Given the description of an element on the screen output the (x, y) to click on. 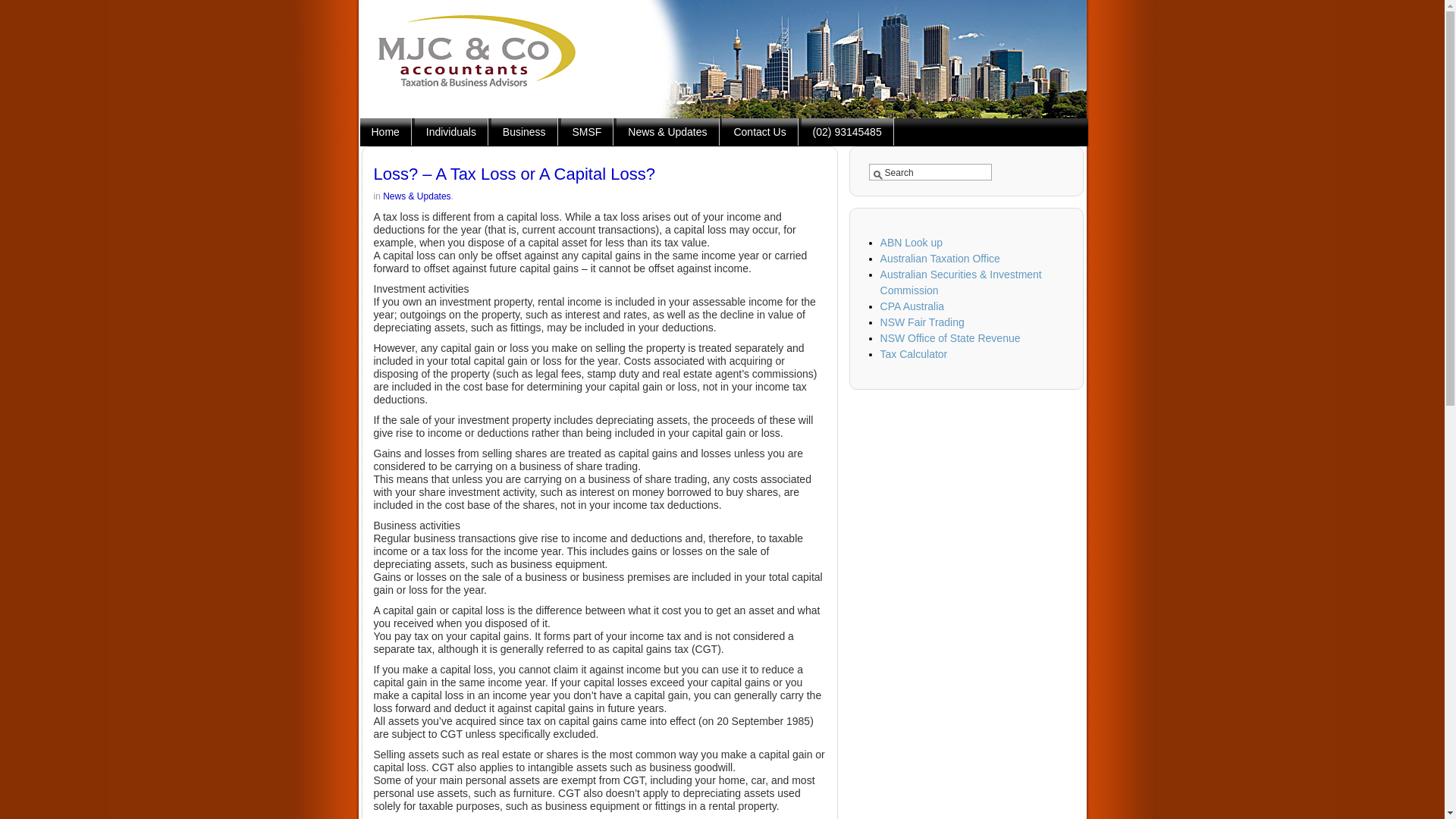
Contact Us Element type: text (759, 131)
News & Updates Element type: text (667, 131)
ABN Look up Element type: text (911, 242)
NSW Office of State Revenue Element type: text (950, 338)
Australian Securities & Investment Commission Element type: text (960, 282)
SMSF Element type: text (587, 131)
Business Element type: text (524, 131)
Australian Taxation Office Element type: text (940, 258)
CPA Australia Element type: text (912, 306)
Home Element type: text (385, 131)
Tax Calculator Element type: text (913, 354)
News & Updates Element type: text (416, 196)
NSW Fair Trading Element type: text (922, 322)
(02) 93145485 Element type: text (847, 131)
Individuals Element type: text (451, 131)
